Given the description of an element on the screen output the (x, y) to click on. 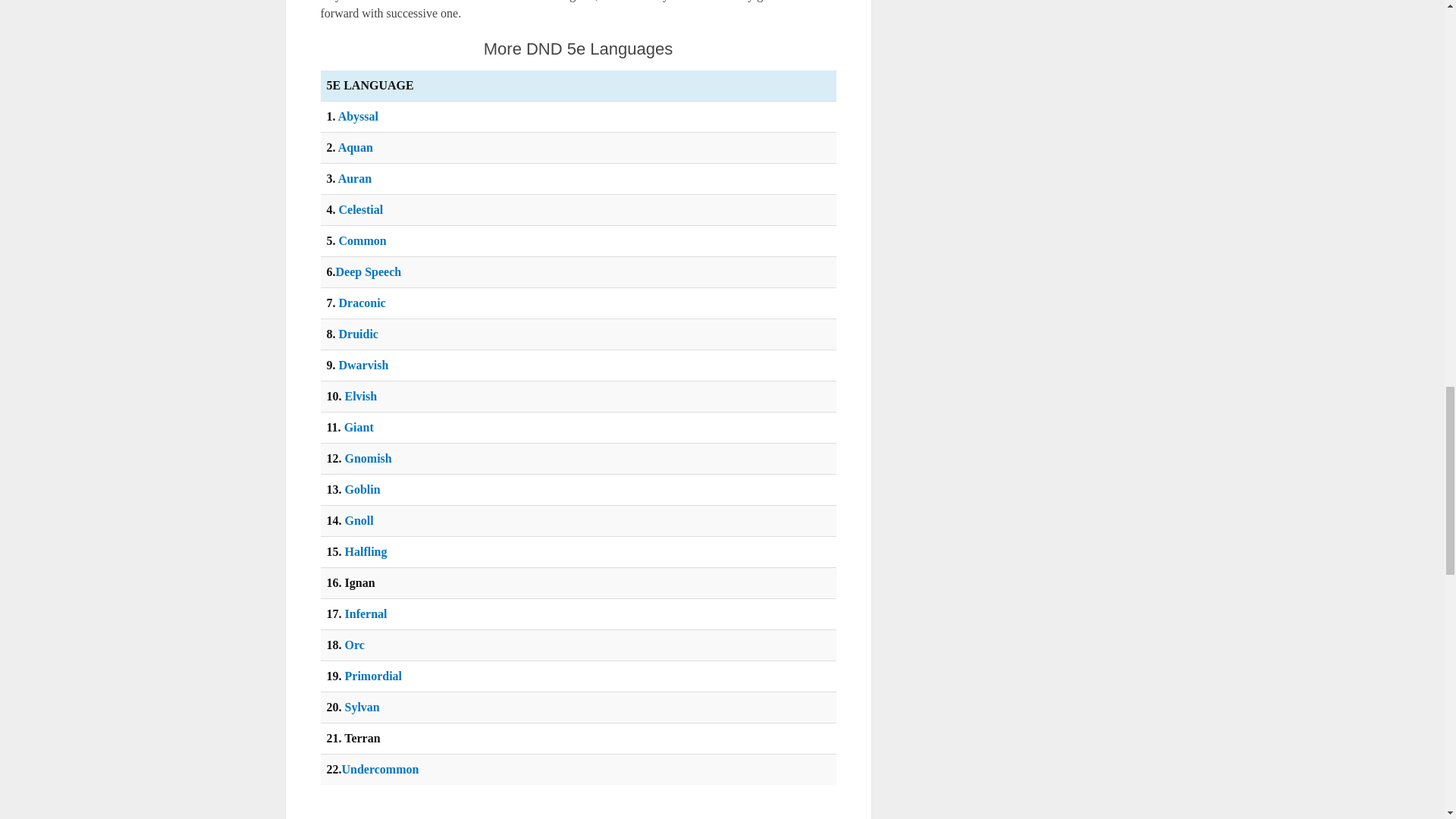
Common (361, 240)
Giant (358, 427)
Elvish (360, 395)
Deep Speech (367, 271)
Auran (354, 178)
Celestial (359, 209)
Aquan (354, 146)
Abyssal (357, 115)
Dwarvish (362, 364)
Draconic (361, 302)
